Given the description of an element on the screen output the (x, y) to click on. 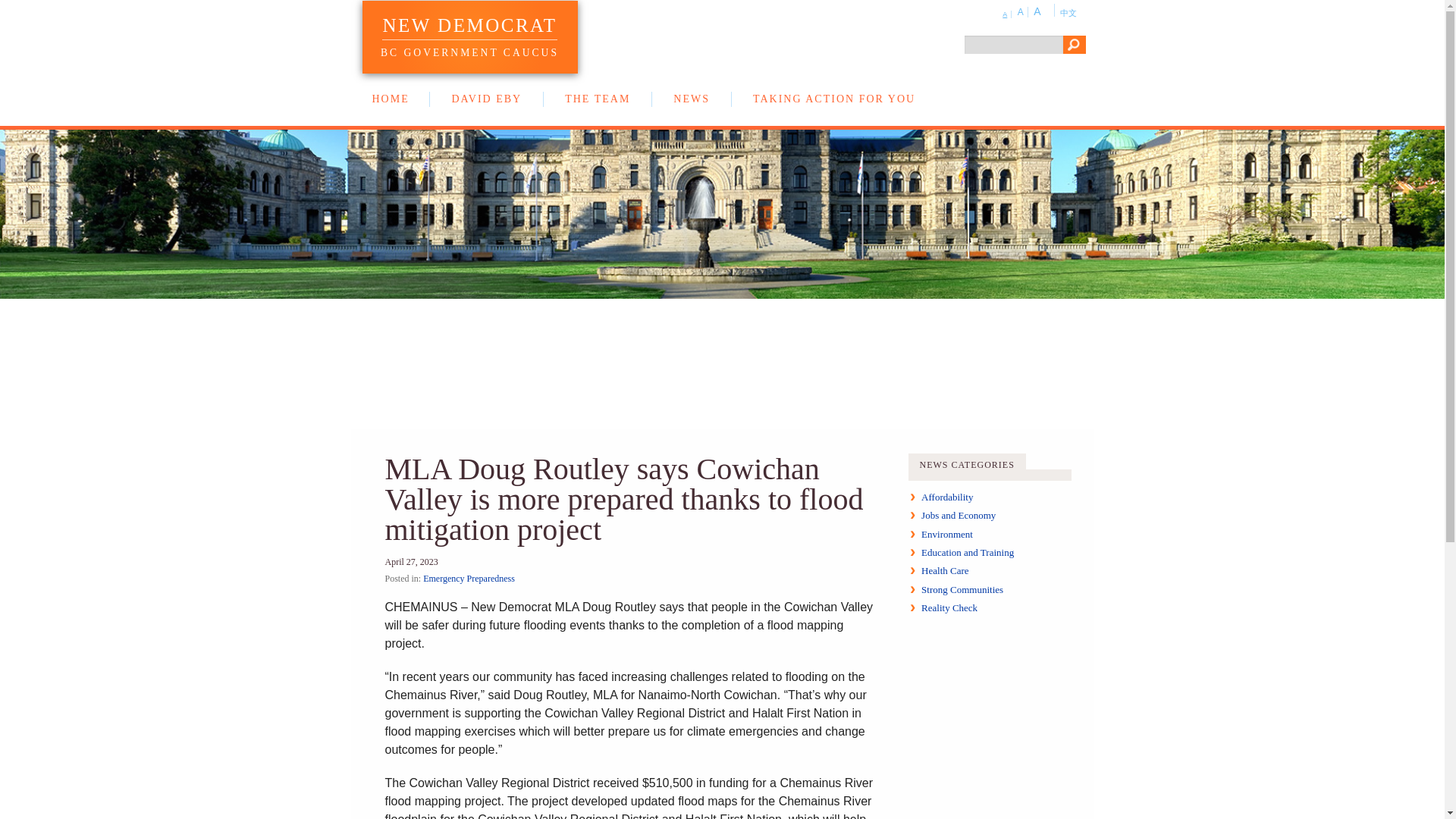
View all posts filed under Health Care (944, 570)
View all posts filed under Reality Check (948, 607)
Education and Training (967, 552)
New Democrat BC Government Caucus (468, 27)
Go (1074, 45)
New Democrat BC Government Caucus (469, 50)
NEWS (691, 99)
NEW DEMOCRAT (468, 27)
Emergency Preparedness (469, 578)
CAREER OPPORTUNITIES (389, 114)
Go (1074, 45)
View all posts filed under Jobs and Economy (958, 514)
View all posts filed under Affordability (946, 496)
A (1007, 14)
View all posts filed under Strong Communities (962, 589)
